Given the description of an element on the screen output the (x, y) to click on. 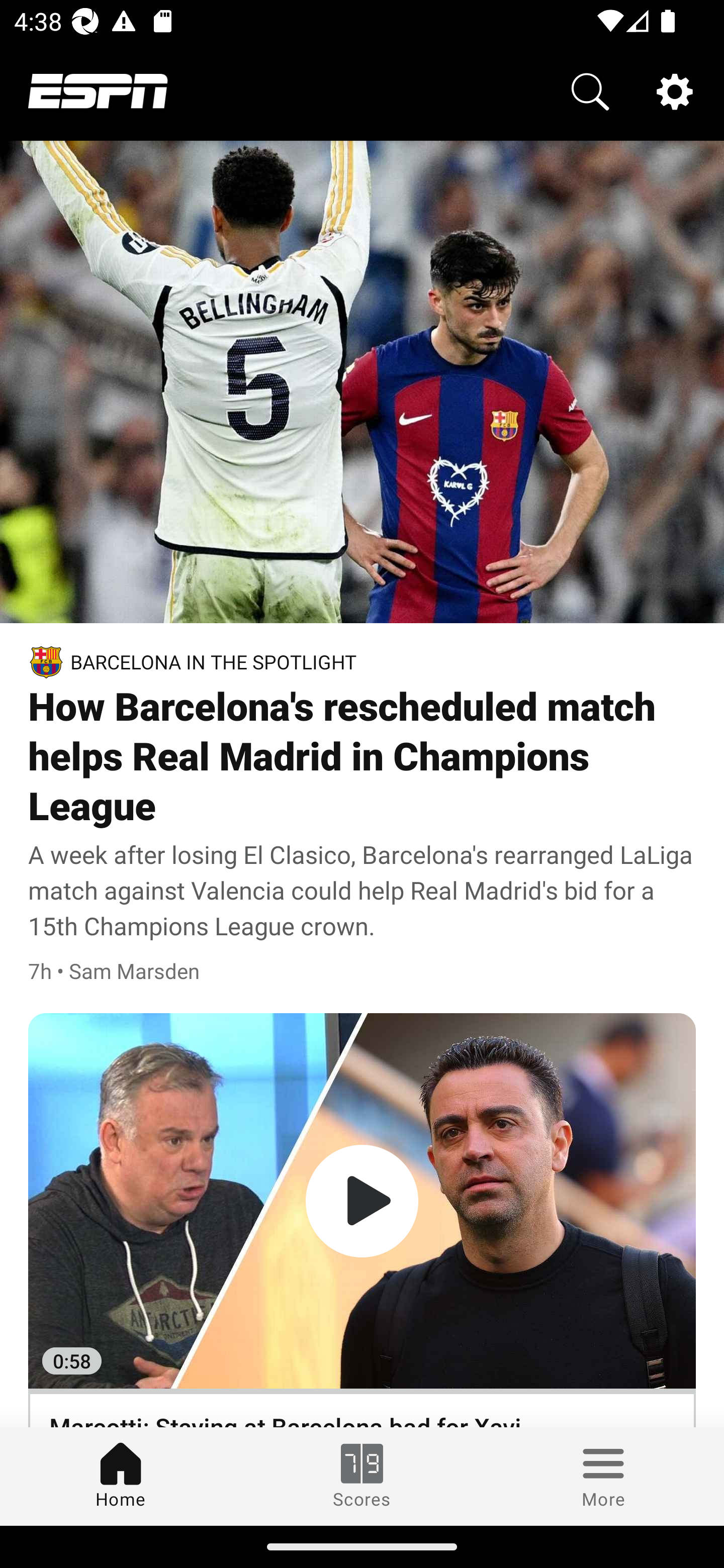
Search (590, 90)
Settings (674, 90)
 0:58 Marcotti: Staying at Barcelona bad for Xavi (361, 1219)
Scores (361, 1475)
More (603, 1475)
